Given the description of an element on the screen output the (x, y) to click on. 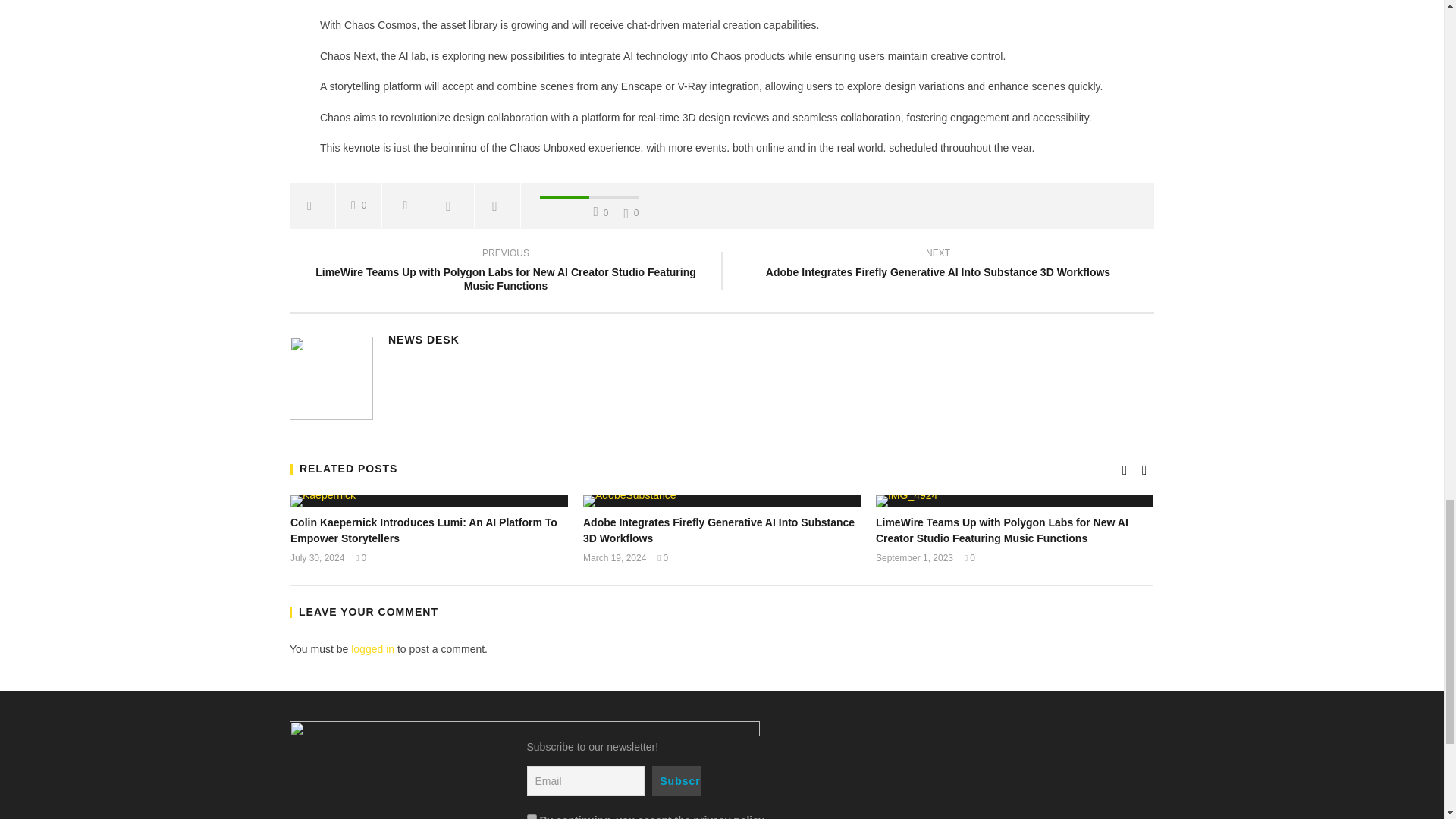
on (530, 816)
Subscribe (676, 780)
